Given the description of an element on the screen output the (x, y) to click on. 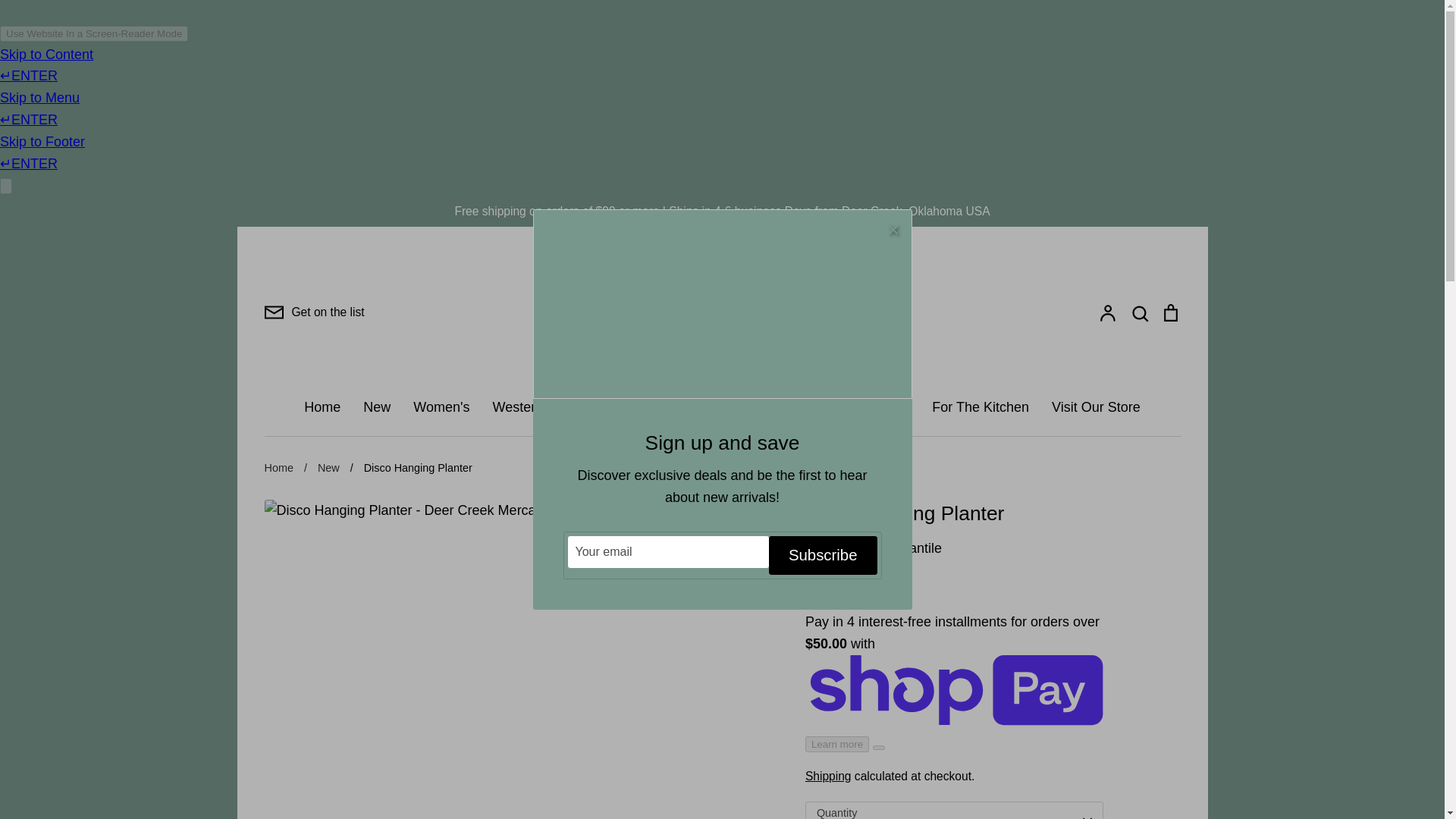
Women's (440, 406)
Collections (875, 406)
Kid's (682, 406)
Home (322, 406)
Account (1107, 312)
Cart (1169, 312)
Search (1139, 312)
Grocery (795, 406)
Western Goods (540, 406)
Men's (627, 406)
Get on the list (313, 312)
Gifts (734, 406)
New (376, 406)
